Given the description of an element on the screen output the (x, y) to click on. 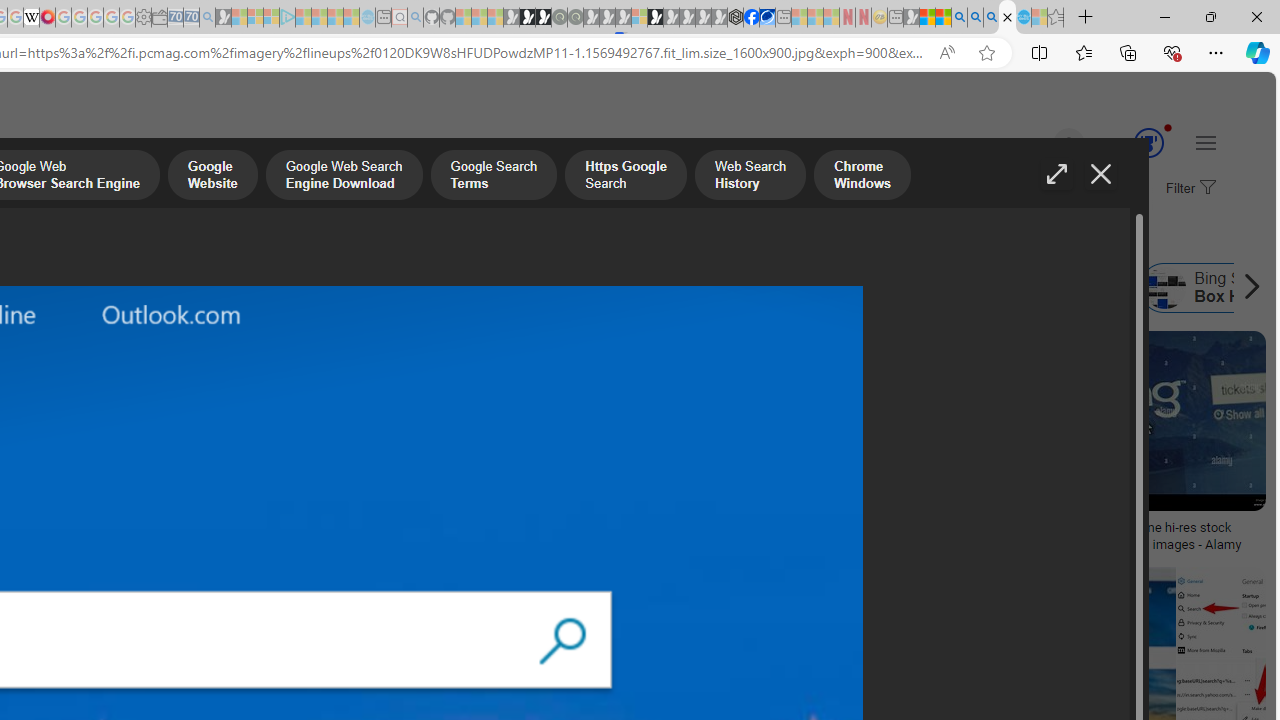
Settings and quick links (1205, 142)
Bing Mugs (132, 521)
AutomationID: serp_medal_svg (1148, 142)
Settings - Sleeping (143, 17)
Chrome Windows (861, 177)
Google Website (212, 177)
Microsoft Rewards 84 (1130, 143)
